Given the description of an element on the screen output the (x, y) to click on. 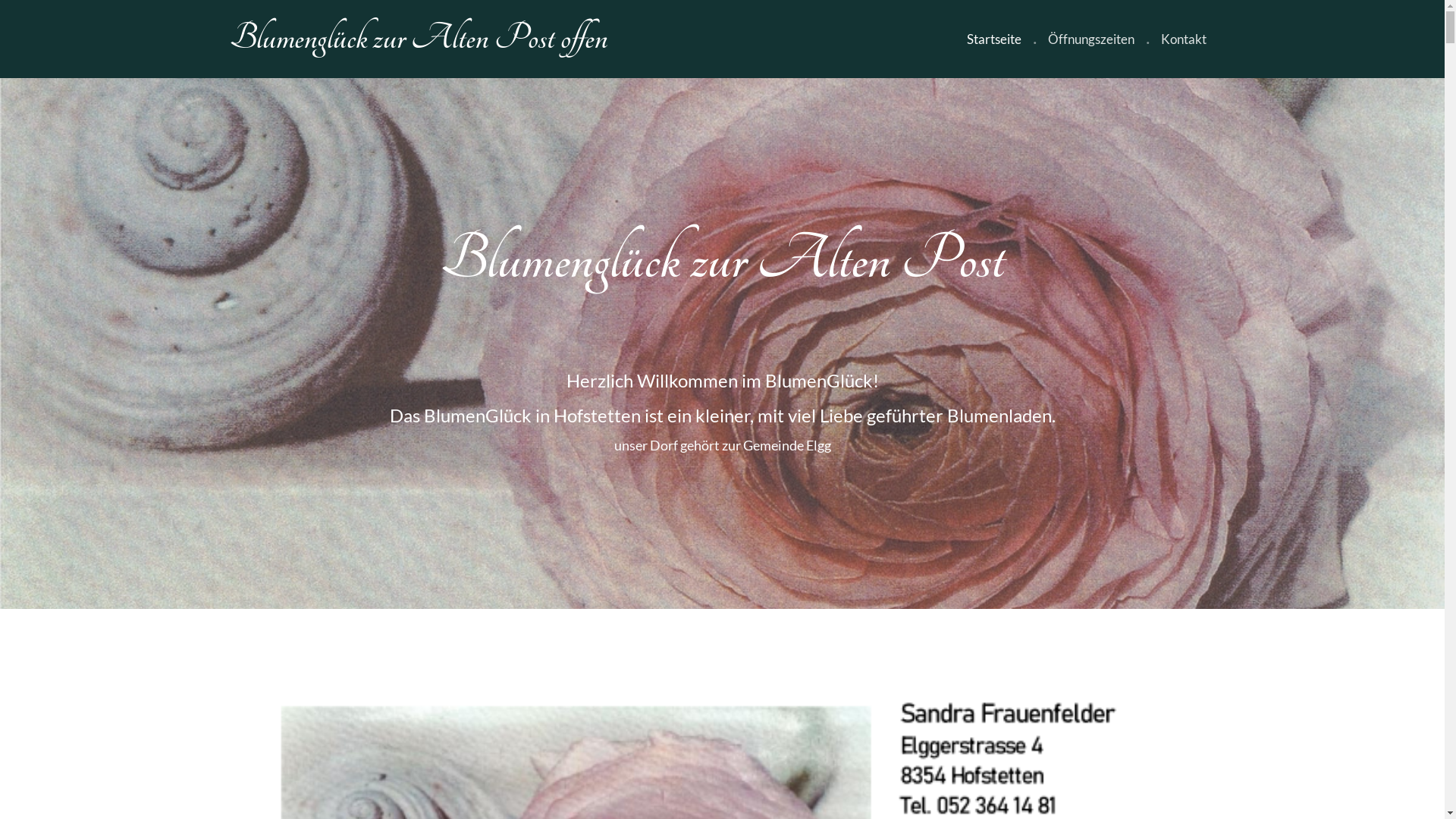
Startseite Element type: text (993, 38)
Kontakt Element type: text (1182, 38)
